Given the description of an element on the screen output the (x, y) to click on. 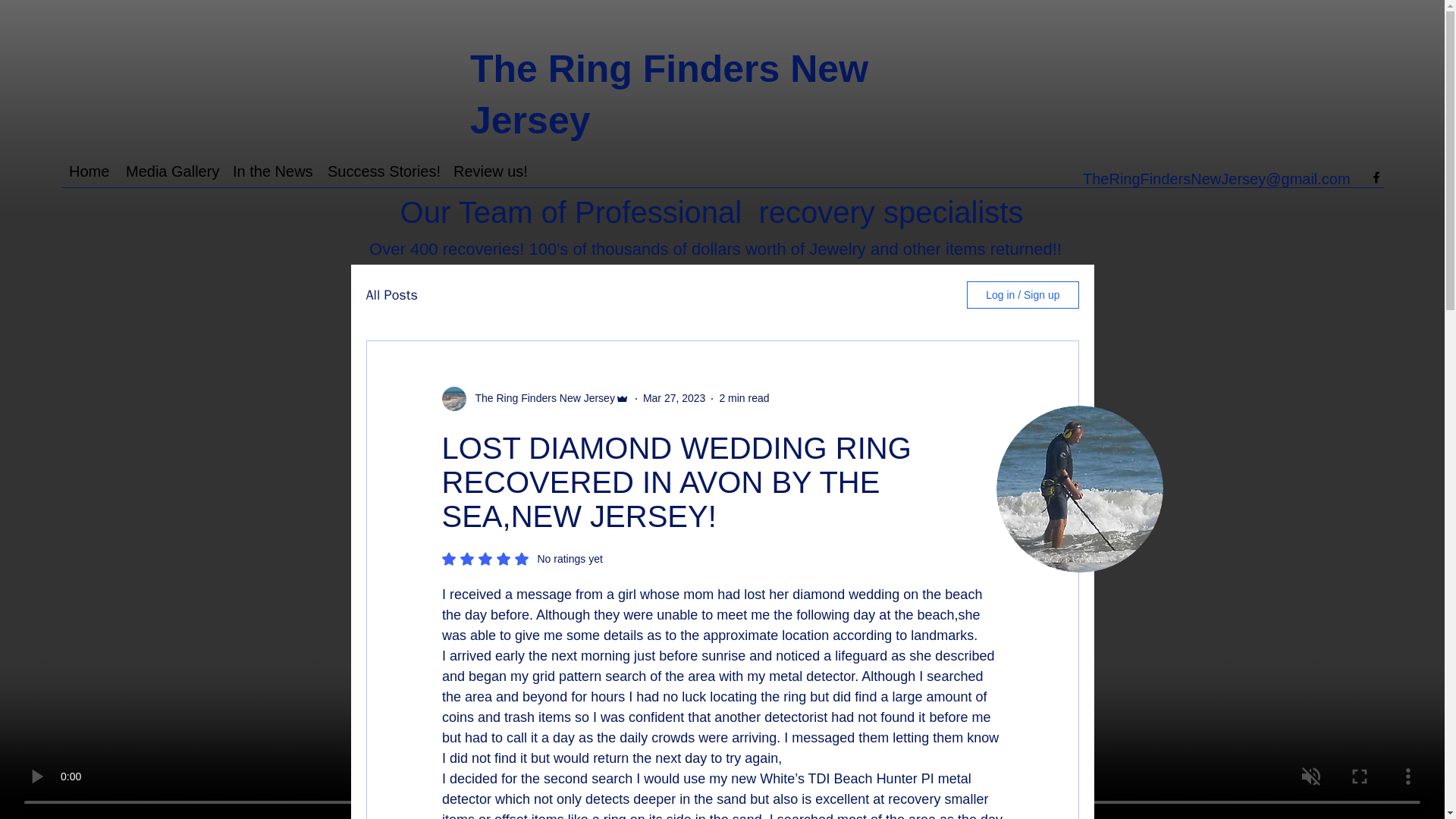
Success Stories! (378, 171)
All Posts (390, 294)
The Ring Finders New Jersey (521, 558)
2 min read (539, 398)
Home (743, 398)
In the News (86, 171)
Mar 27, 2023 (268, 171)
Review us! (674, 398)
Media Gallery (486, 171)
